Given the description of an element on the screen output the (x, y) to click on. 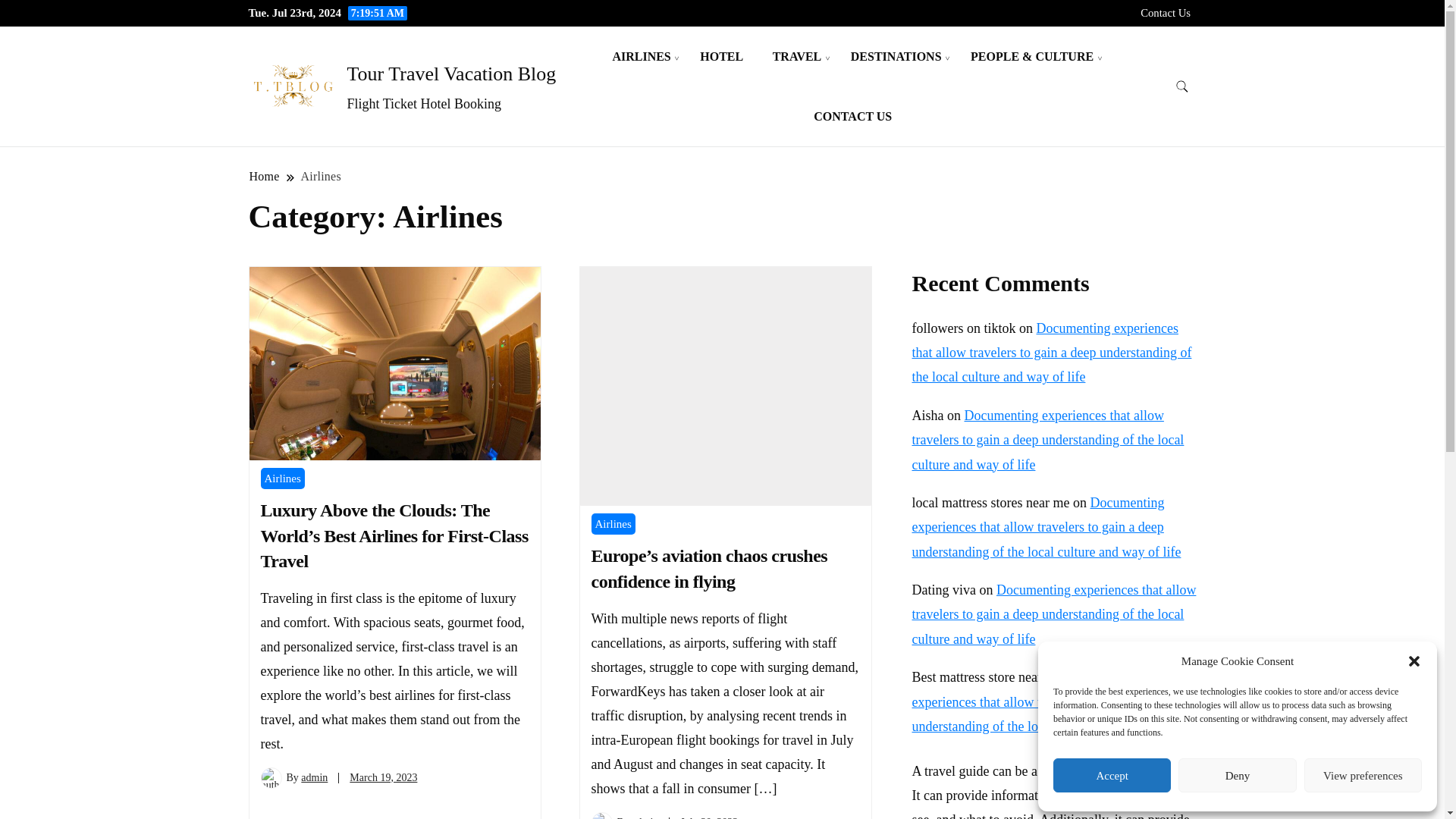
HOTEL (721, 56)
View preferences (1363, 775)
CONTACT US (852, 116)
AIRLINES (640, 56)
Accept (1111, 775)
Tour Travel Vacation Blog (451, 74)
TRAVEL (797, 56)
Deny (1236, 775)
DESTINATIONS (896, 56)
Contact Us (1165, 12)
